Given the description of an element on the screen output the (x, y) to click on. 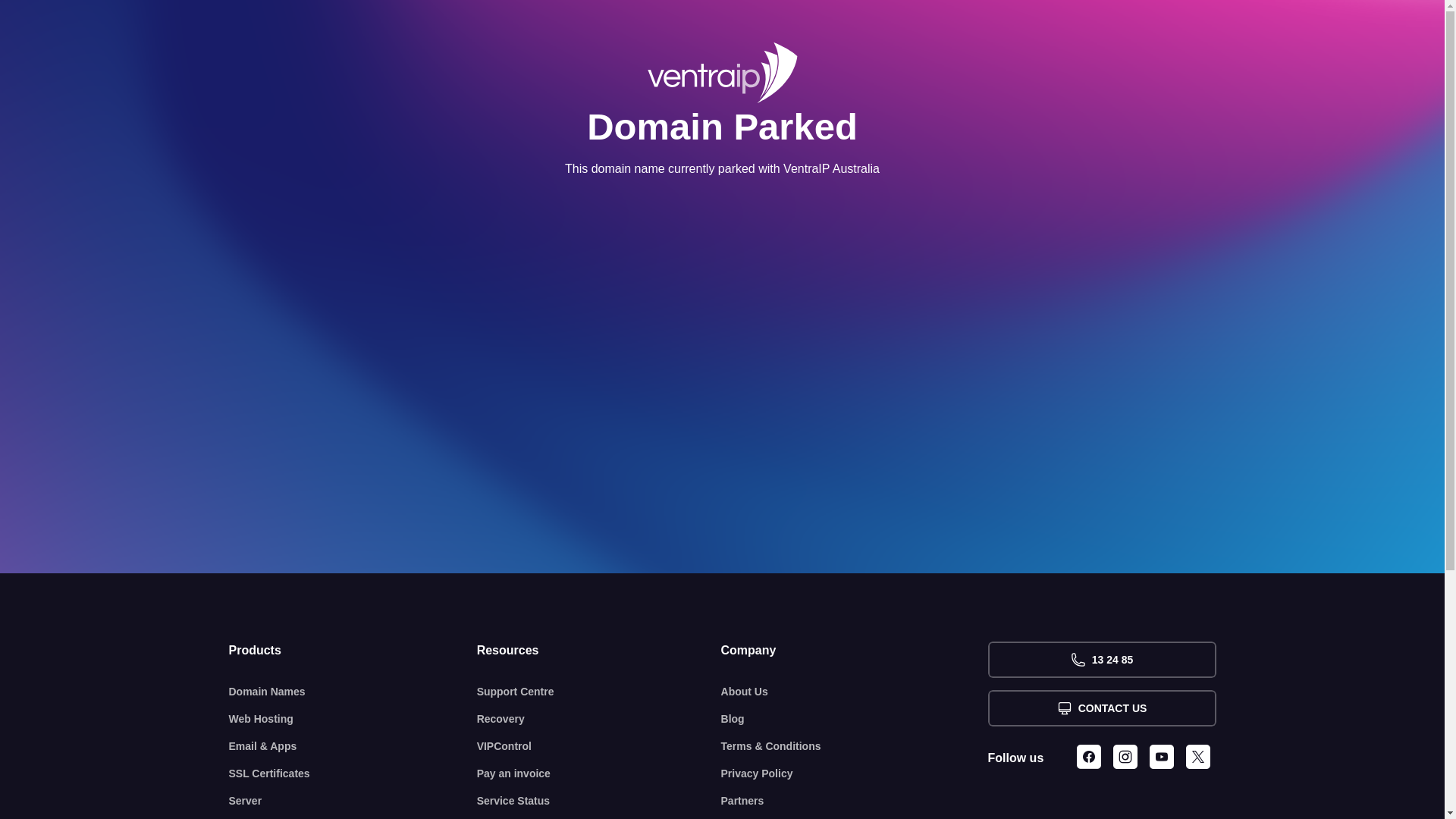
13 24 85 Element type: text (1101, 659)
Privacy Policy Element type: text (854, 773)
SSL Certificates Element type: text (352, 773)
About Us Element type: text (854, 691)
Email & Apps Element type: text (352, 745)
Partners Element type: text (854, 800)
Support Centre Element type: text (598, 691)
Pay an invoice Element type: text (598, 773)
Domain Names Element type: text (352, 691)
Terms & Conditions Element type: text (854, 745)
Blog Element type: text (854, 718)
Recovery Element type: text (598, 718)
Web Hosting Element type: text (352, 718)
VIPControl Element type: text (598, 745)
Server Element type: text (352, 800)
Service Status Element type: text (598, 800)
CONTACT US Element type: text (1101, 708)
